Given the description of an element on the screen output the (x, y) to click on. 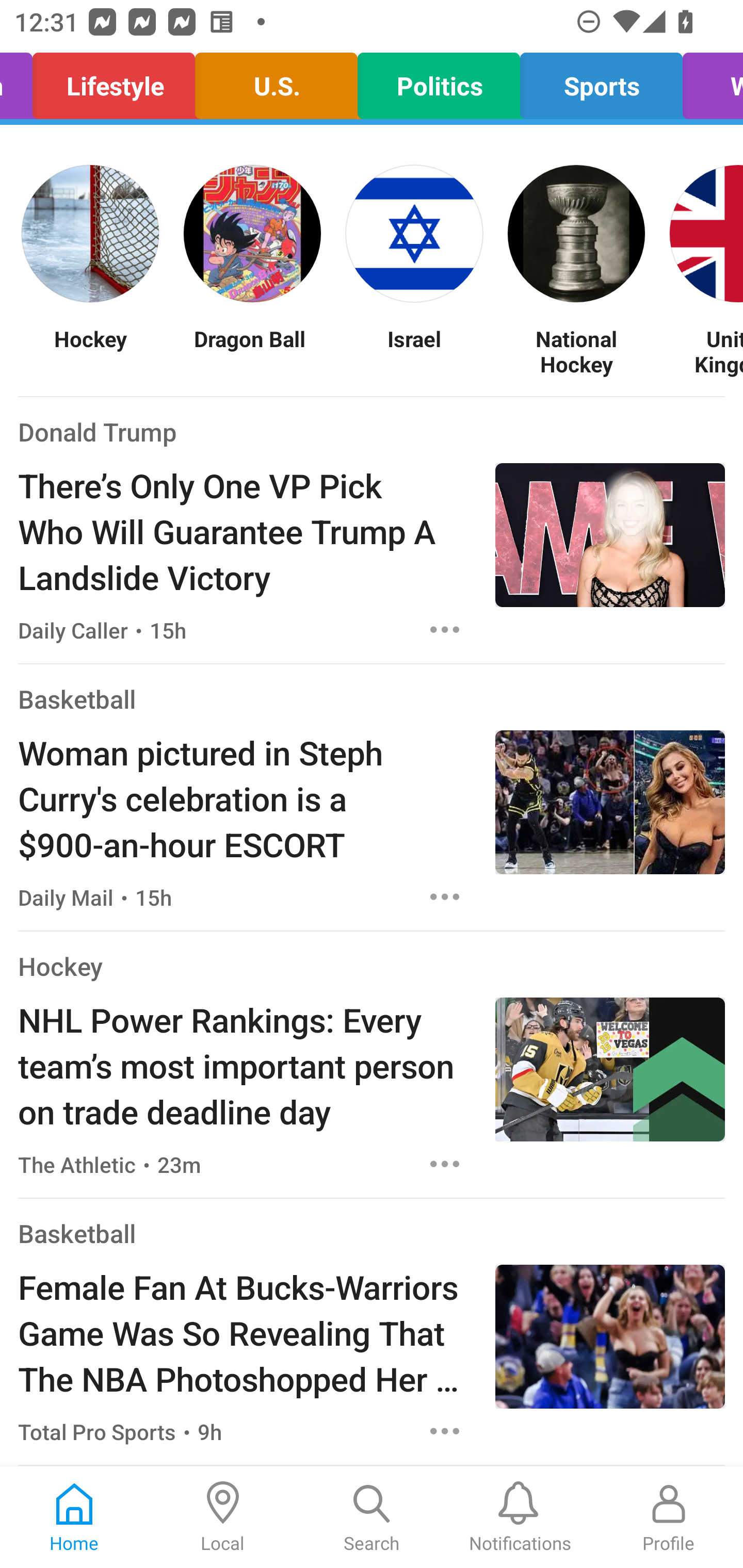
Lifestyle (113, 81)
U.S. (276, 81)
Politics (438, 81)
Sports (600, 81)
Hockey (89, 350)
Dragon Ball  (251, 350)
Israel (413, 350)
National Hockey League (575, 350)
Donald Trump (97, 430)
Options (444, 629)
Basketball (76, 699)
Options (444, 896)
Hockey (60, 965)
Options (444, 1164)
Basketball (76, 1232)
Options (444, 1431)
Local (222, 1517)
Search (371, 1517)
Notifications (519, 1517)
Profile (668, 1517)
